Given the description of an element on the screen output the (x, y) to click on. 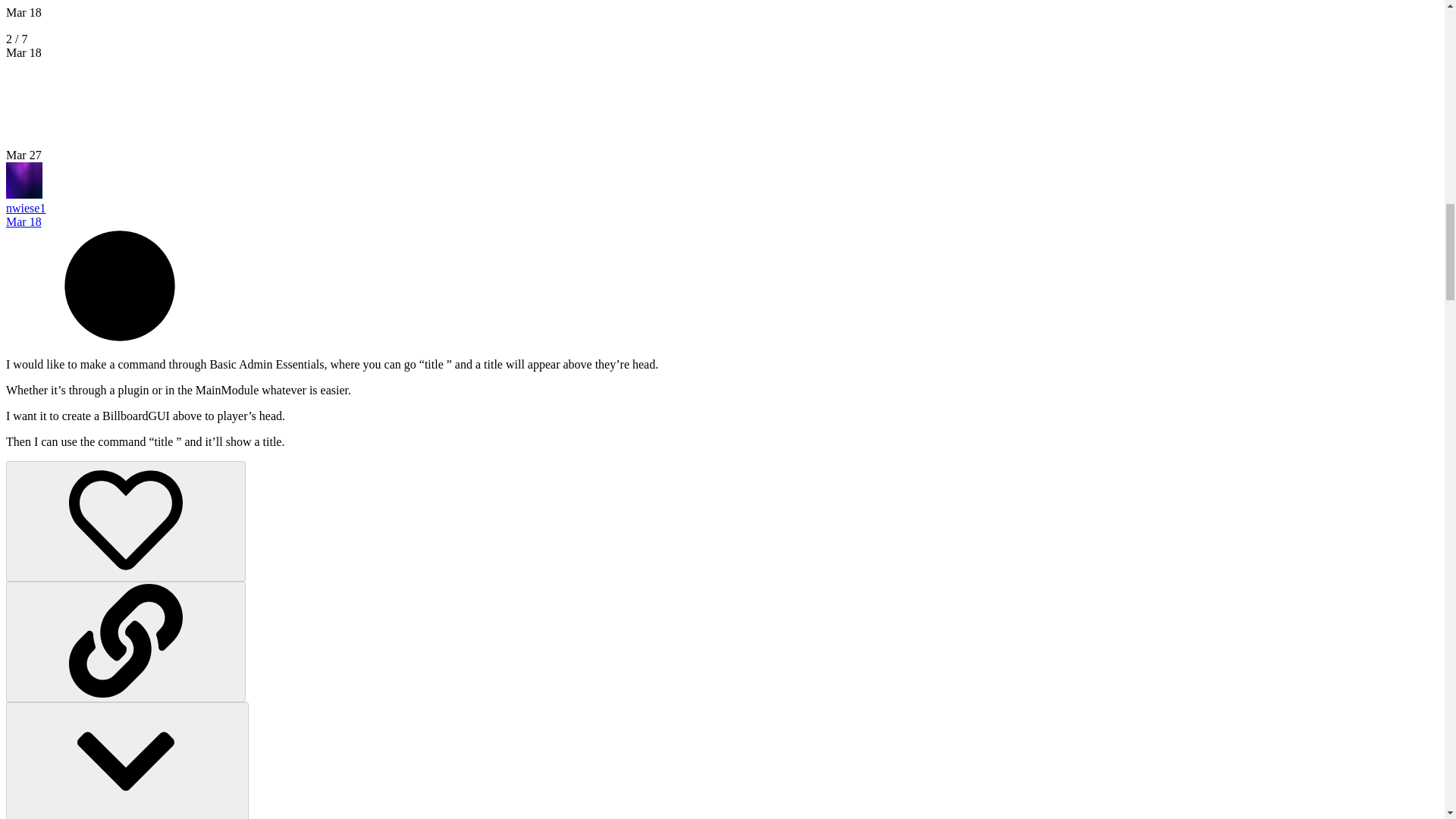
Post date (23, 221)
Mar 27 (23, 154)
Mar 18 (23, 221)
Mar 18 (23, 11)
Jump to the last post (23, 154)
nwiese1 (25, 207)
Jump to the first post (23, 11)
